Given the description of an element on the screen output the (x, y) to click on. 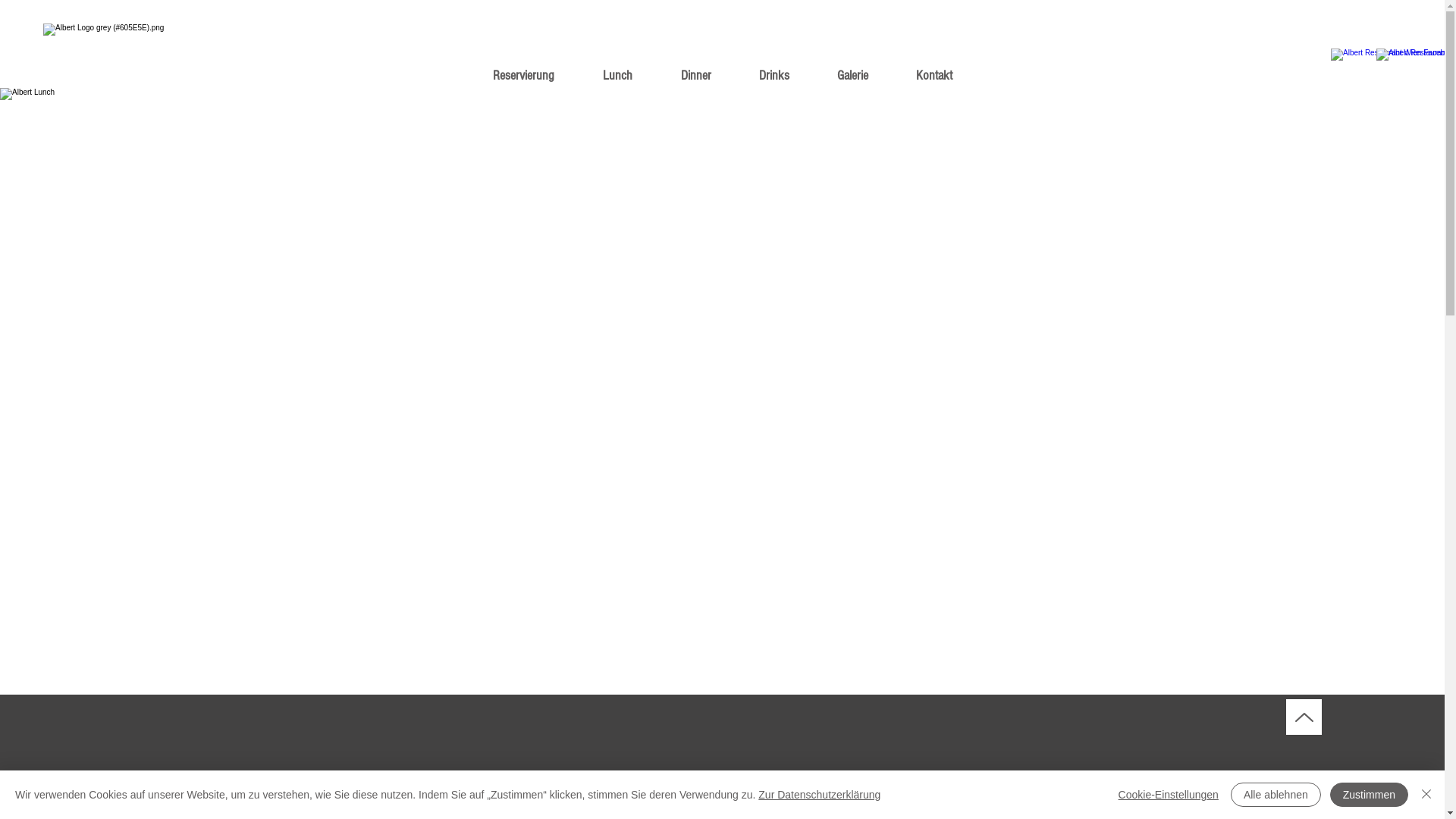
Galerie Element type: text (851, 75)
Zustimmen Element type: text (1369, 794)
Dinner Element type: text (695, 75)
Reservierung Element type: text (522, 75)
Drinks Element type: text (773, 75)
Lunch Element type: text (616, 75)
Kontakt Element type: text (933, 75)
Alle ablehnen Element type: text (1275, 794)
